Given the description of an element on the screen output the (x, y) to click on. 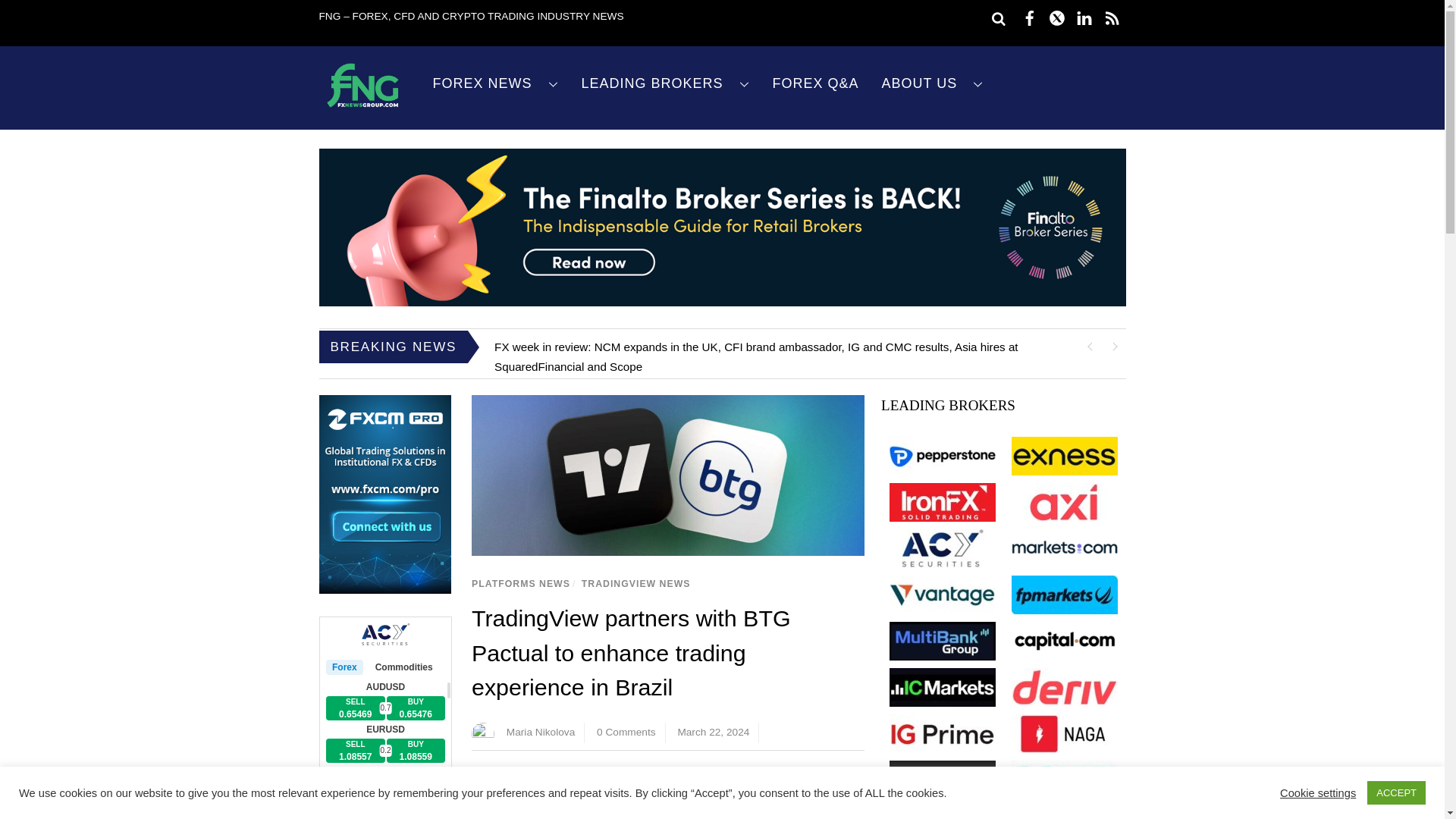
FOREX NEWS (496, 83)
Linkedin (668, 795)
Email (690, 795)
Facebook (621, 795)
tradingview-joins-forces-with-btg-pactual-preview (667, 475)
FX News Group (362, 108)
X (644, 795)
LEADING BROKERS (665, 83)
More (713, 795)
